Given the description of an element on the screen output the (x, y) to click on. 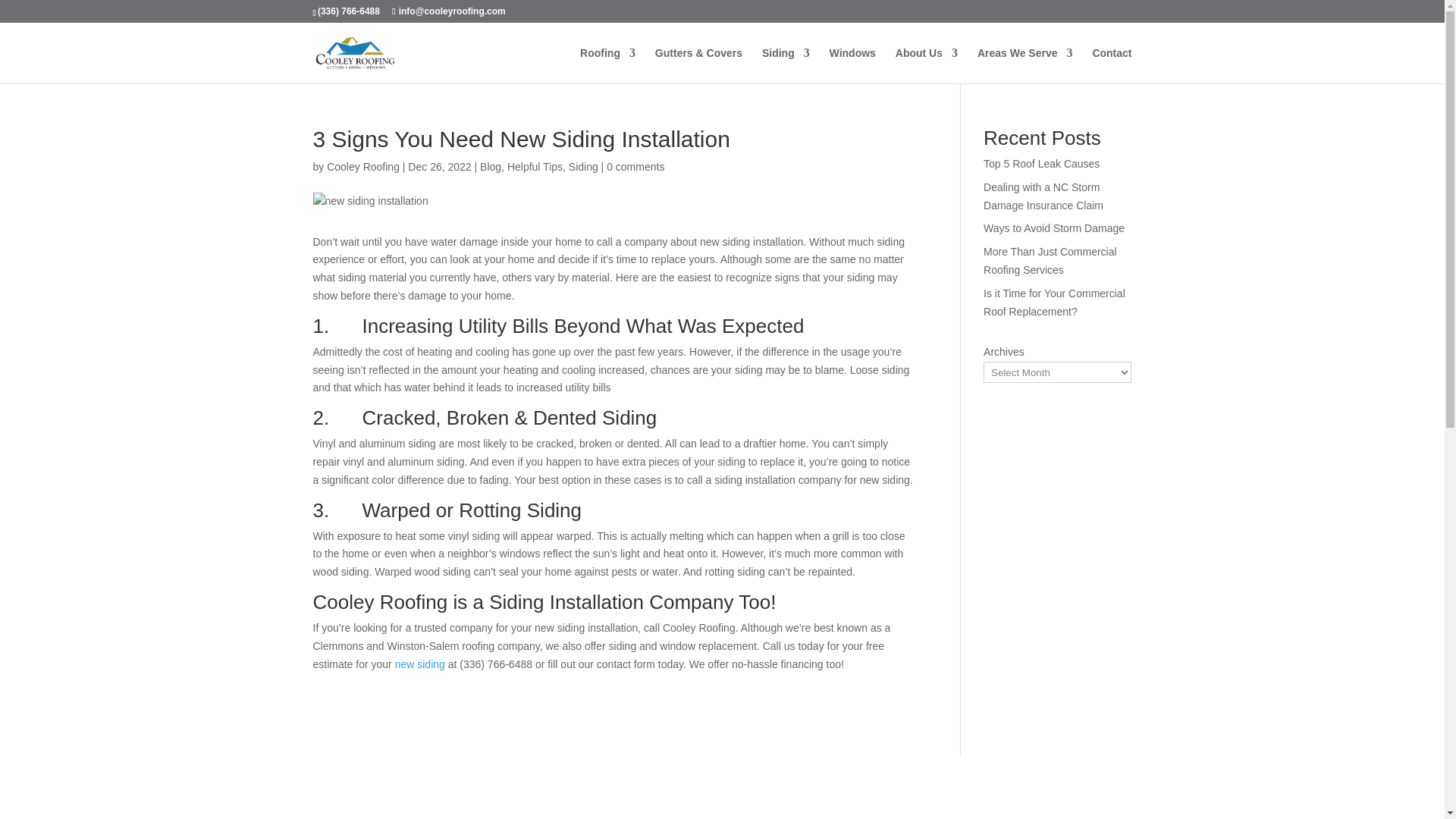
new siding (419, 664)
Roofing (606, 65)
Top 5 Roof Leak Causes (1041, 163)
Dealing with a NC Storm Damage Insurance Claim (1043, 195)
Blog (490, 166)
Cooley Roofing (362, 166)
Siding (785, 65)
Posts by Cooley Roofing (362, 166)
Is it Time for Your Commercial Roof Replacement? (1054, 302)
0 comments (635, 166)
Windows (852, 65)
About Us (926, 65)
More Than Just Commercial Roofing Services (1050, 260)
Helpful Tips (534, 166)
Contact (1111, 65)
